Given the description of an element on the screen output the (x, y) to click on. 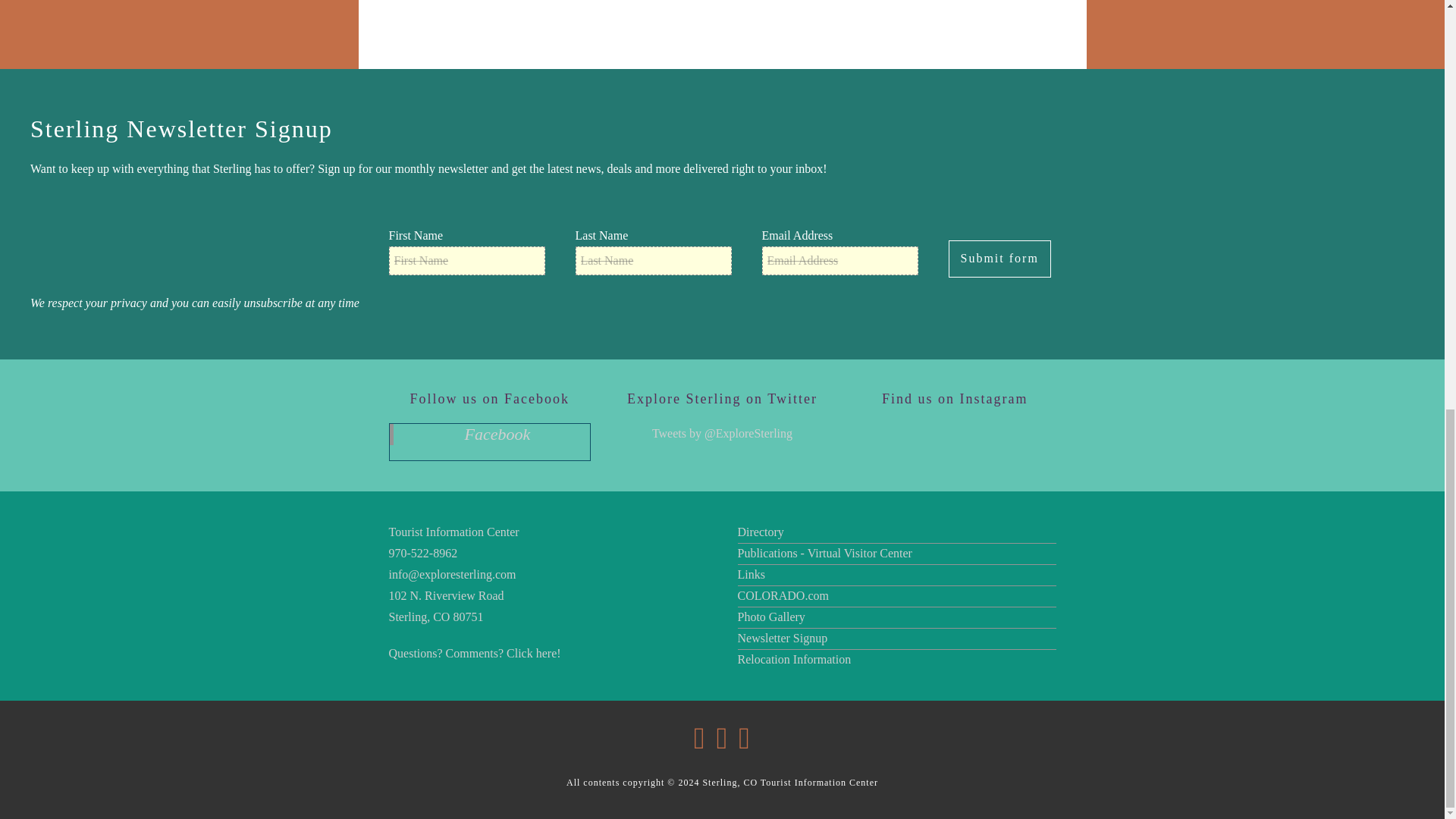
Submit form (998, 258)
Submit form (998, 258)
Facebook (496, 434)
